Given the description of an element on the screen output the (x, y) to click on. 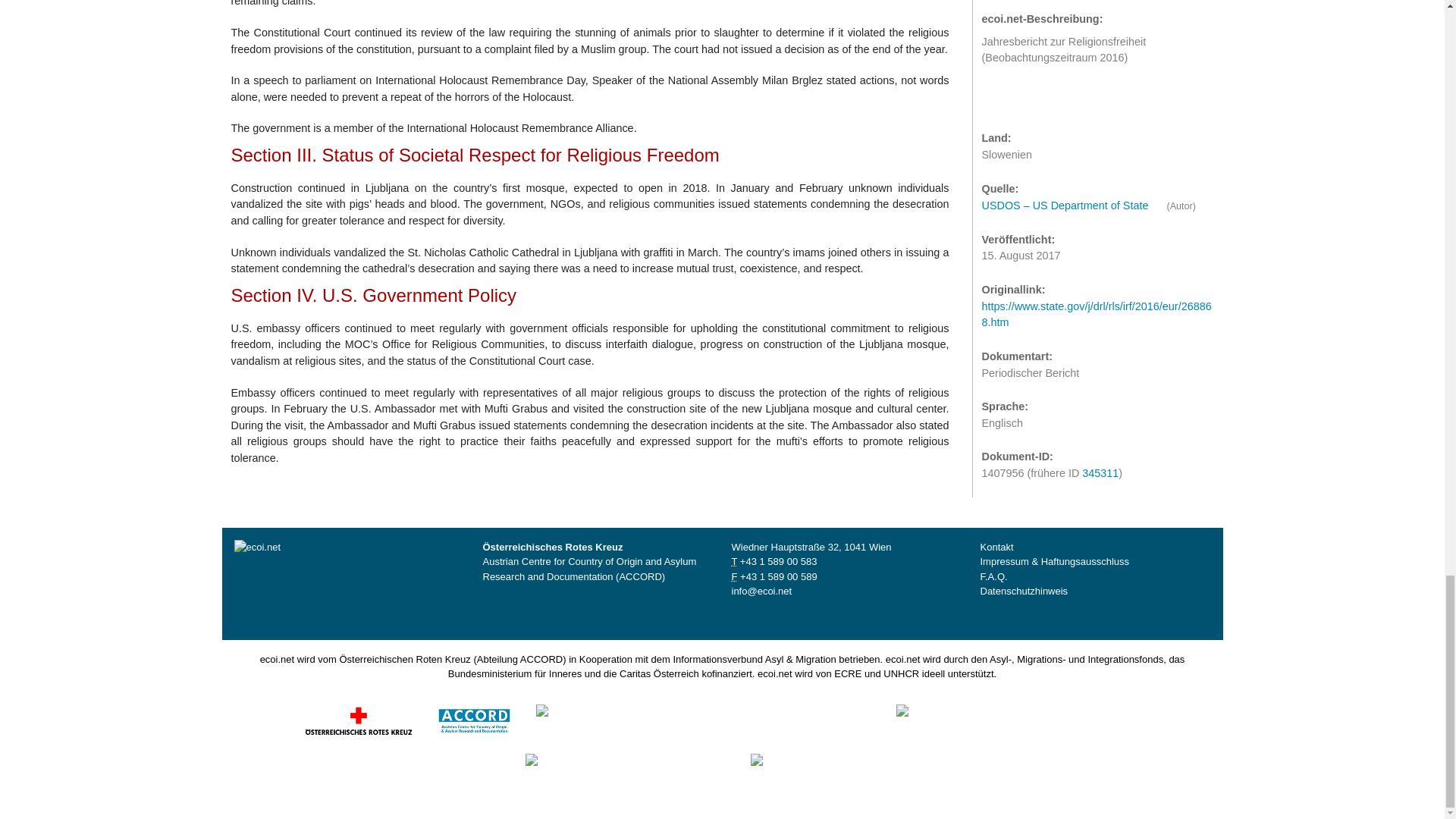
UNHCR - The UN Refugee Agency (847, 769)
Fax (777, 576)
Kontakt (996, 546)
Fax (733, 576)
Telefon (777, 561)
Telefon (733, 561)
